Given the description of an element on the screen output the (x, y) to click on. 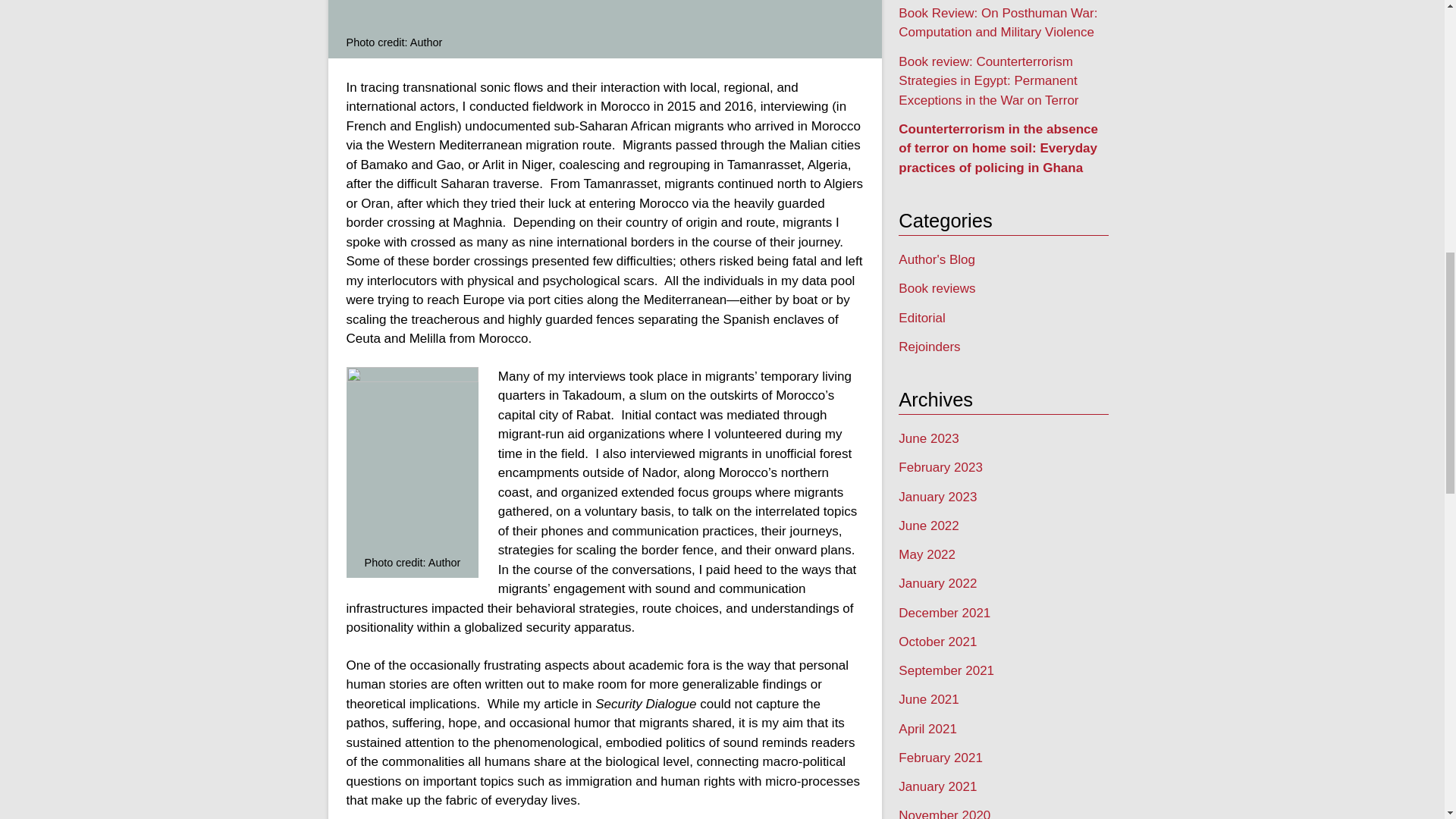
Book reviews (936, 288)
Author (412, 459)
Author's Blog (936, 259)
